Given the description of an element on the screen output the (x, y) to click on. 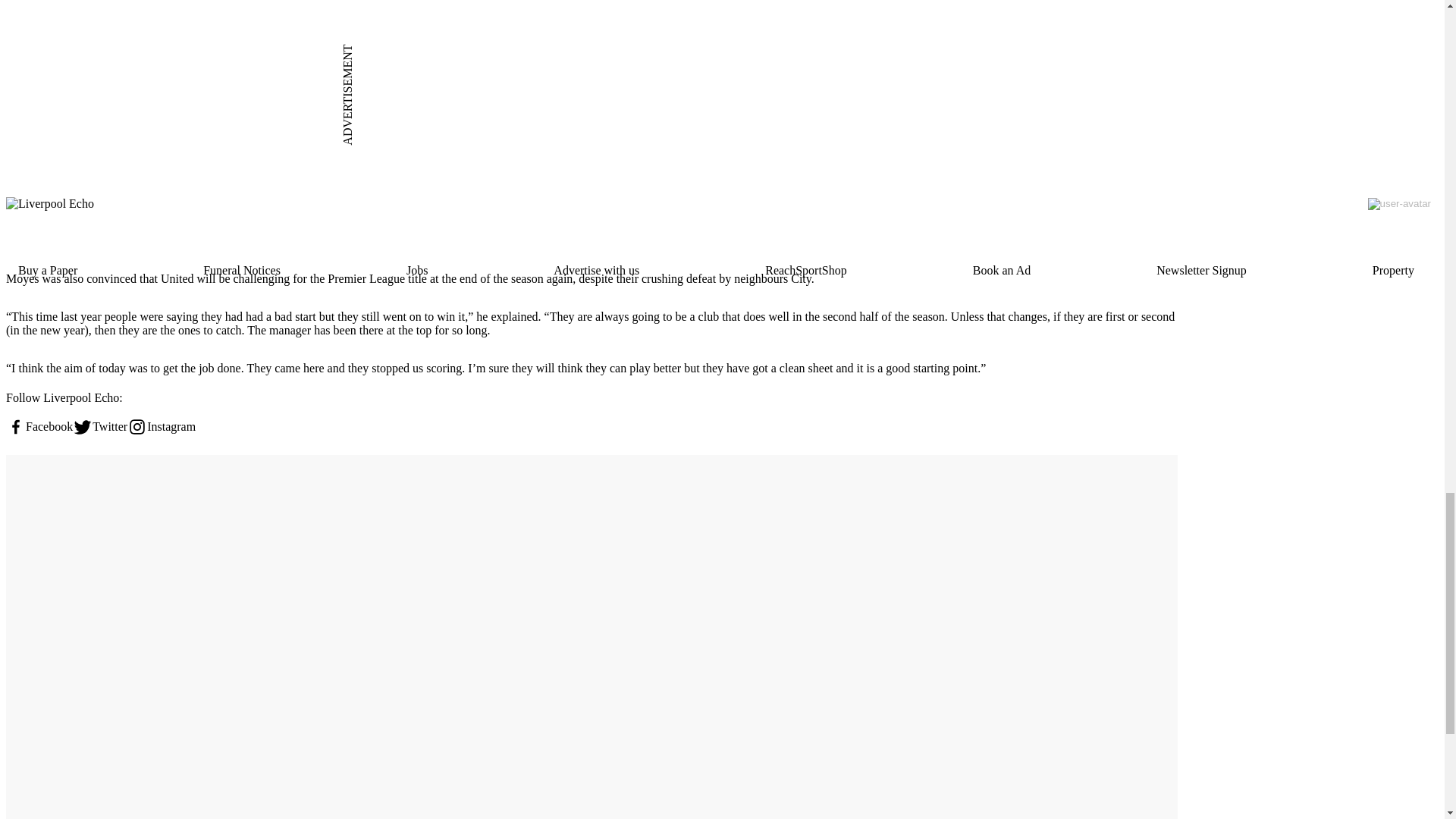
Twitter (100, 426)
Instagram (161, 426)
Facebook (38, 426)
